Given the description of an element on the screen output the (x, y) to click on. 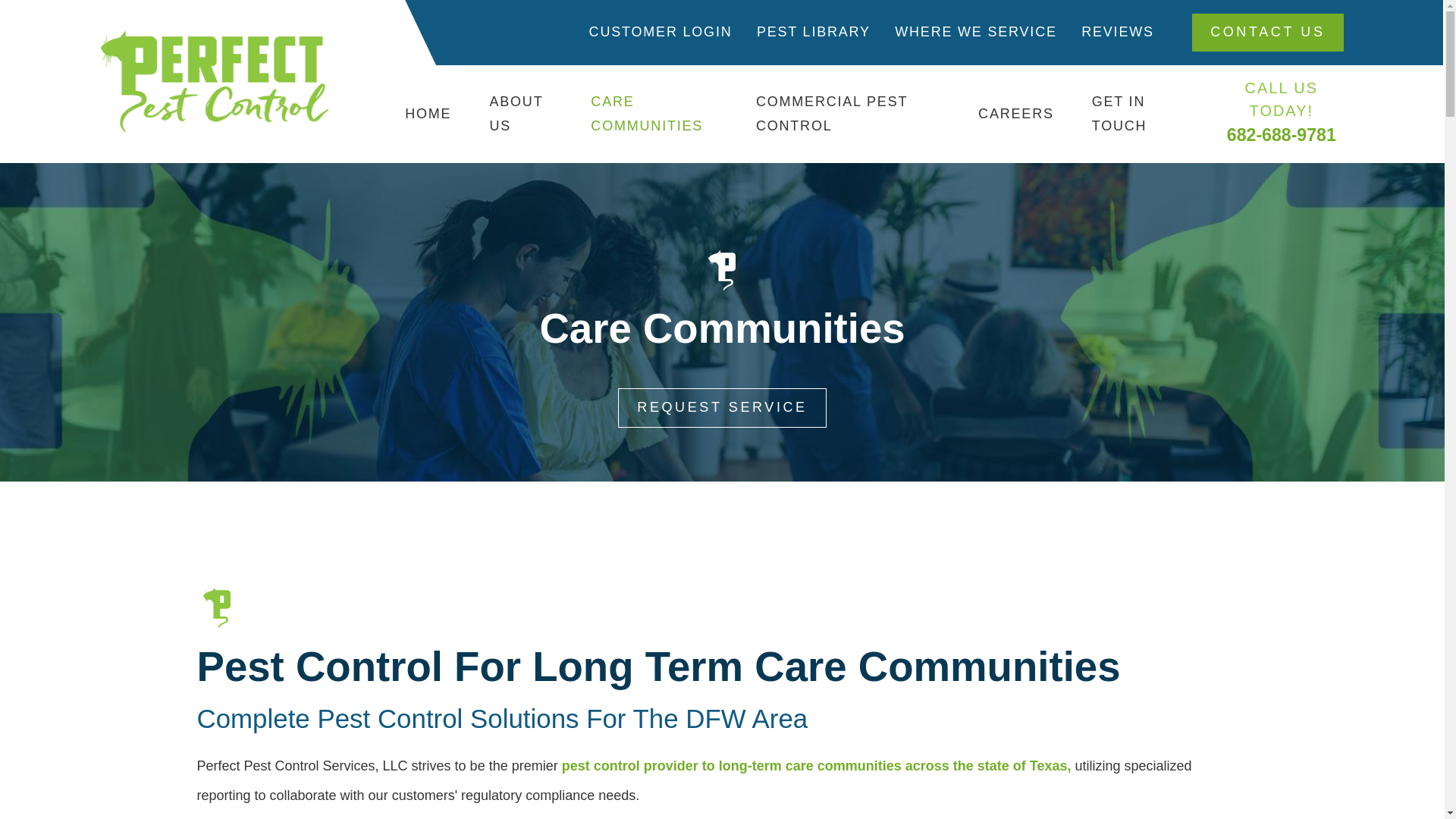
PEST LIBRARY (813, 31)
GET IN TOUCH (1136, 113)
682-688-9781 (1281, 134)
WHERE WE SERVICE (976, 31)
COMMERCIAL PEST CONTROL (847, 113)
REQUEST SERVICE (721, 407)
REVIEWS (1117, 31)
CAREERS (1016, 113)
Home (214, 81)
